Given the description of an element on the screen output the (x, y) to click on. 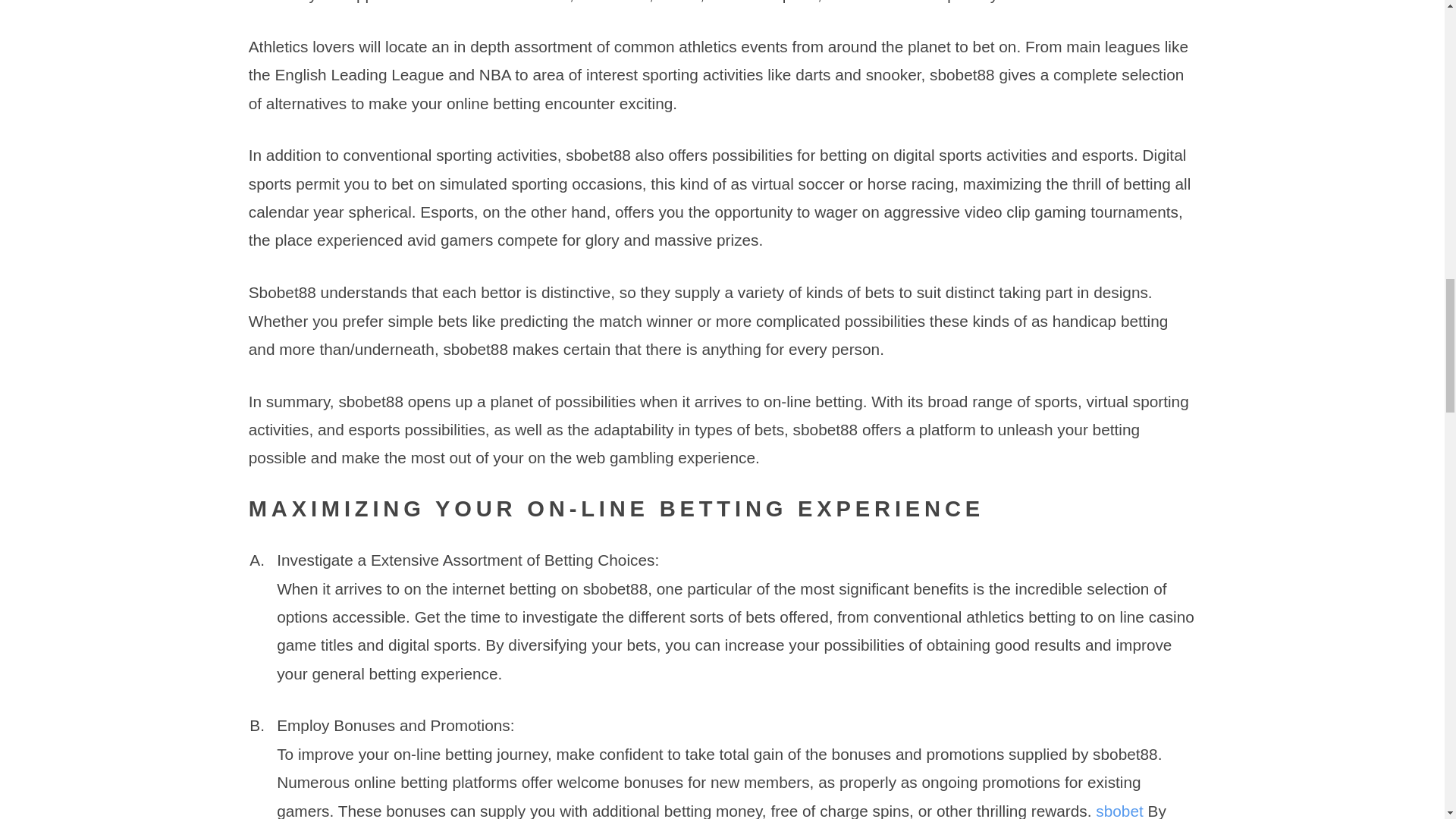
sbobet (1119, 810)
